Given the description of an element on the screen output the (x, y) to click on. 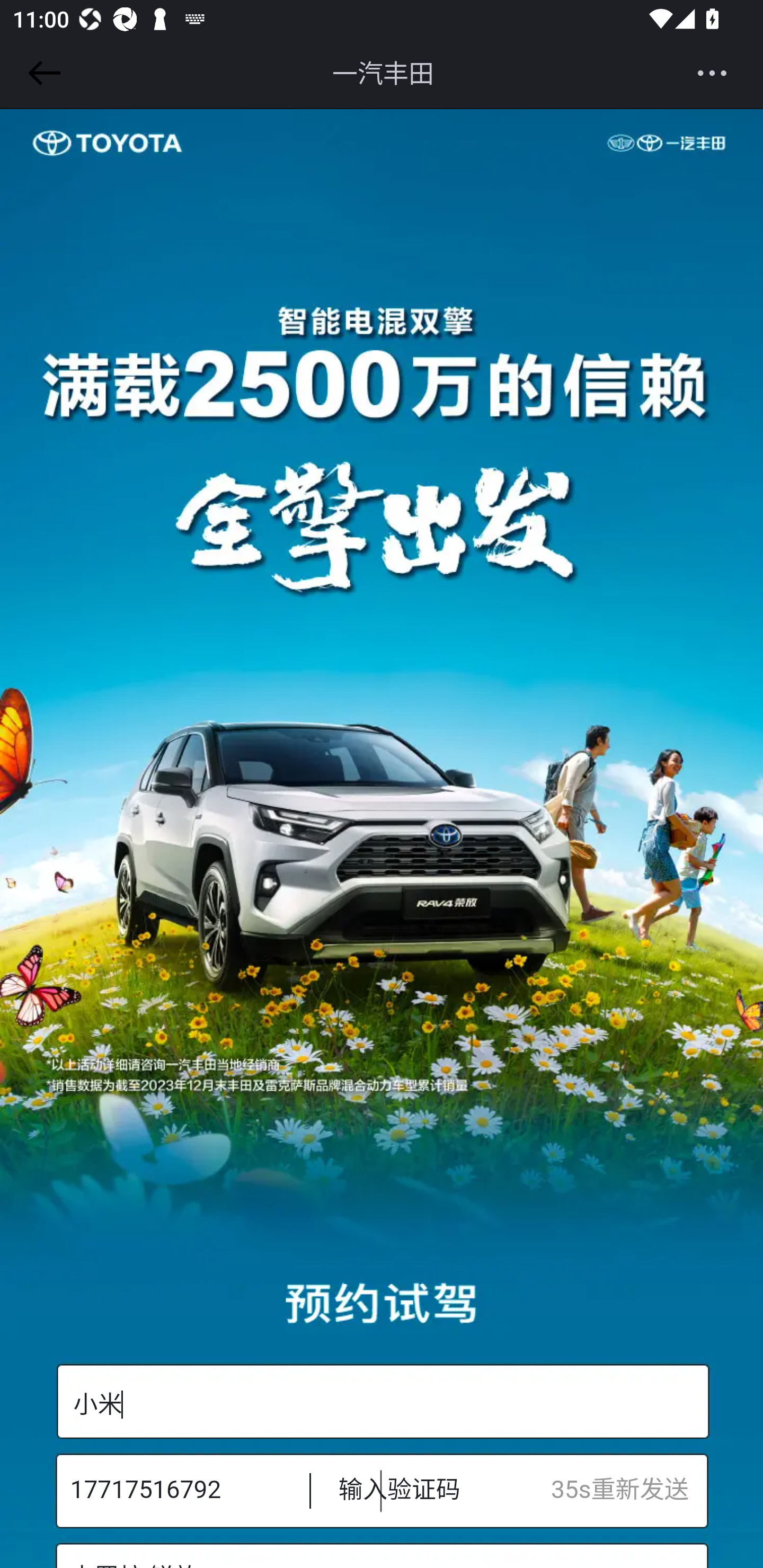
 (41, 72)
小米 (381, 1402)
35s重新发送 (629, 1490)
